Given the description of an element on the screen output the (x, y) to click on. 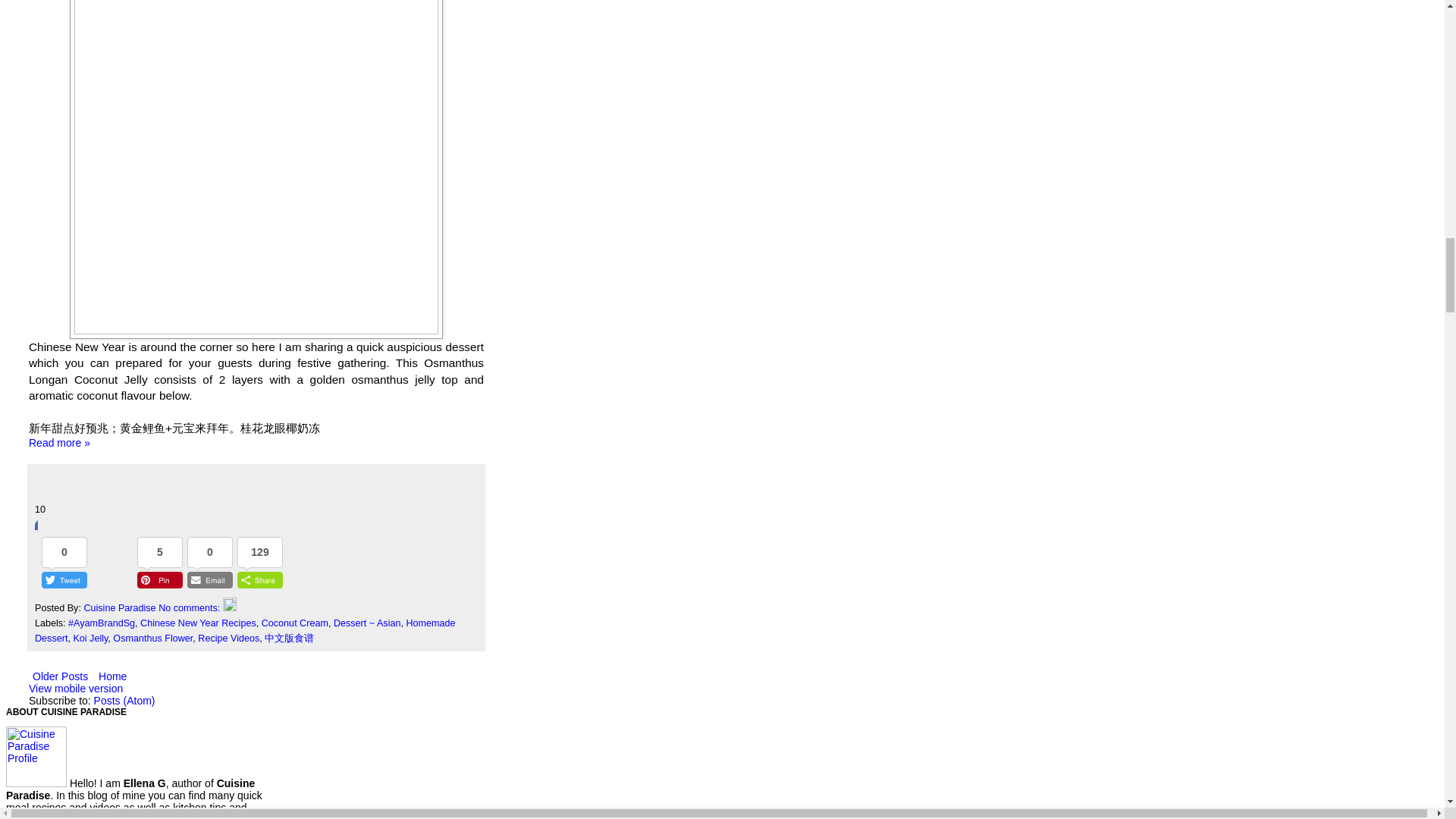
Cuisine Paradise Profile (35, 756)
Edit Post (228, 607)
author profile (120, 607)
Older Posts (60, 676)
